Given the description of an element on the screen output the (x, y) to click on. 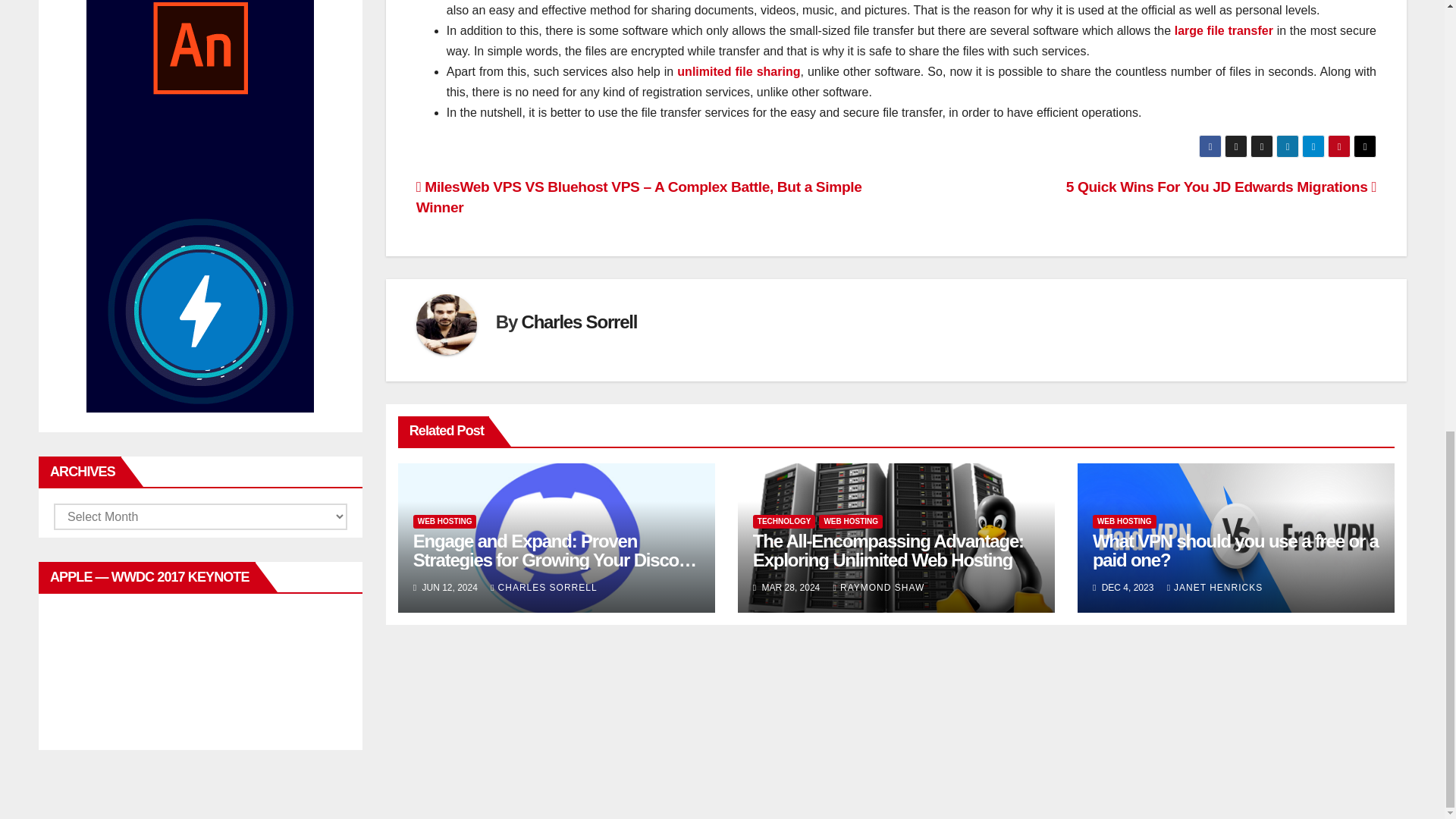
Permalink to: What VPN should you use a free or a paid one? (1235, 550)
